Given the description of an element on the screen output the (x, y) to click on. 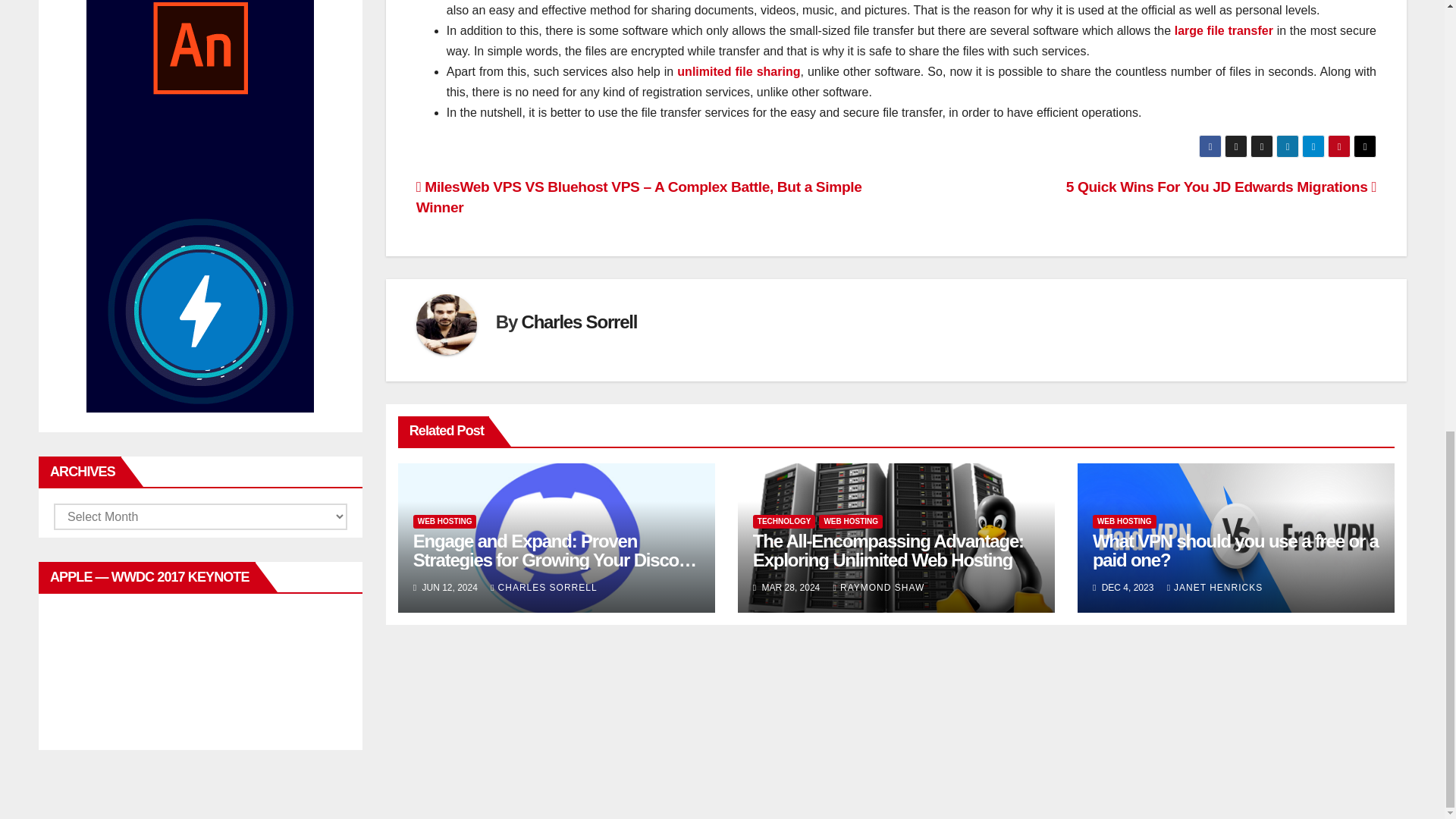
Permalink to: What VPN should you use a free or a paid one? (1235, 550)
